Given the description of an element on the screen output the (x, y) to click on. 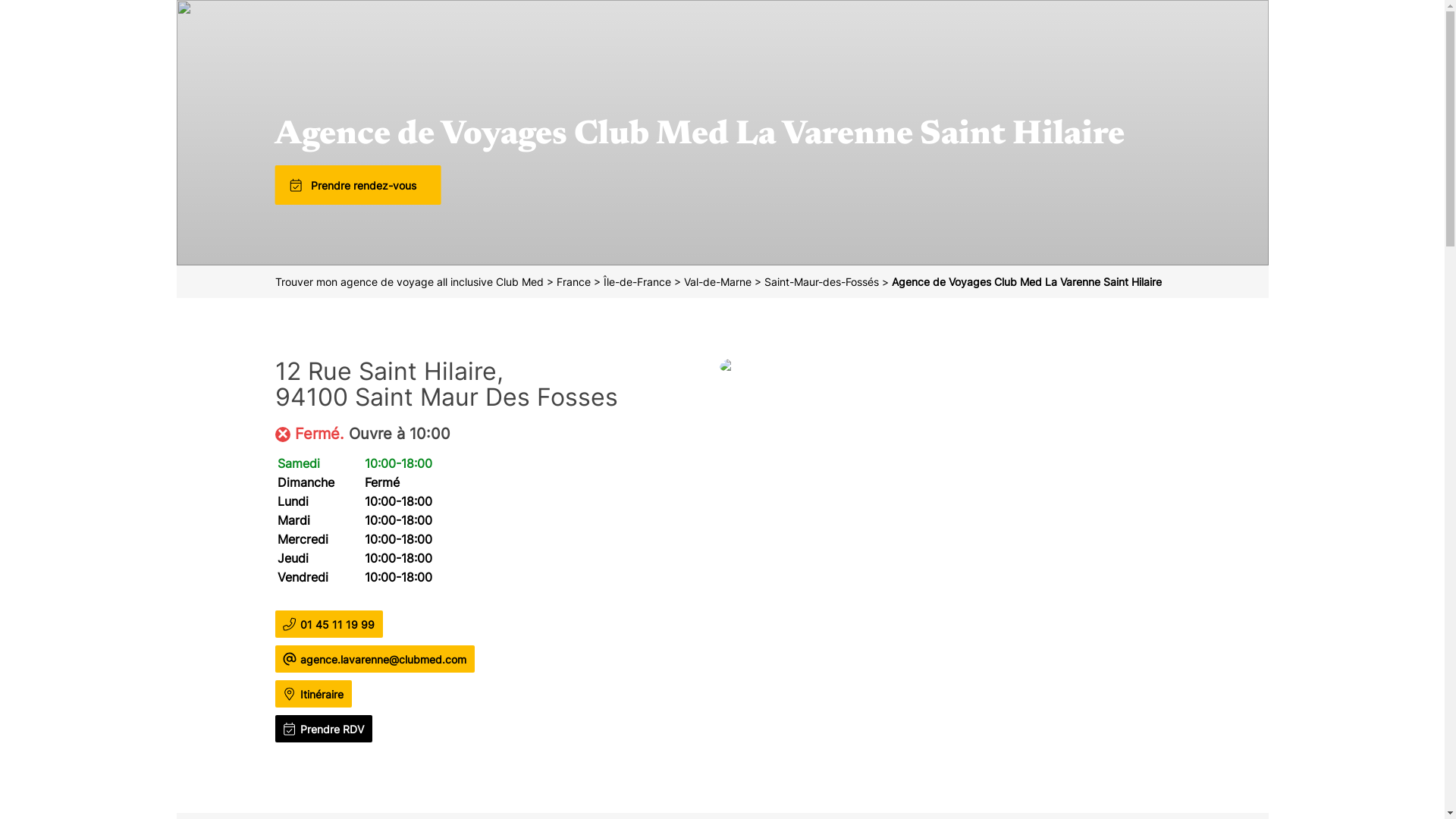
Val-de-Marne Element type: text (719, 281)
01 45 11 19 99 Element type: text (338, 624)
Trouver mon agence de voyage all inclusive Club Med Element type: text (410, 281)
agence.lavarenne@clubmed.com Element type: text (384, 659)
Prendre rendez-vous Element type: text (371, 184)
Prendre RDV Element type: text (333, 728)
France Element type: text (574, 281)
